Given the description of an element on the screen output the (x, y) to click on. 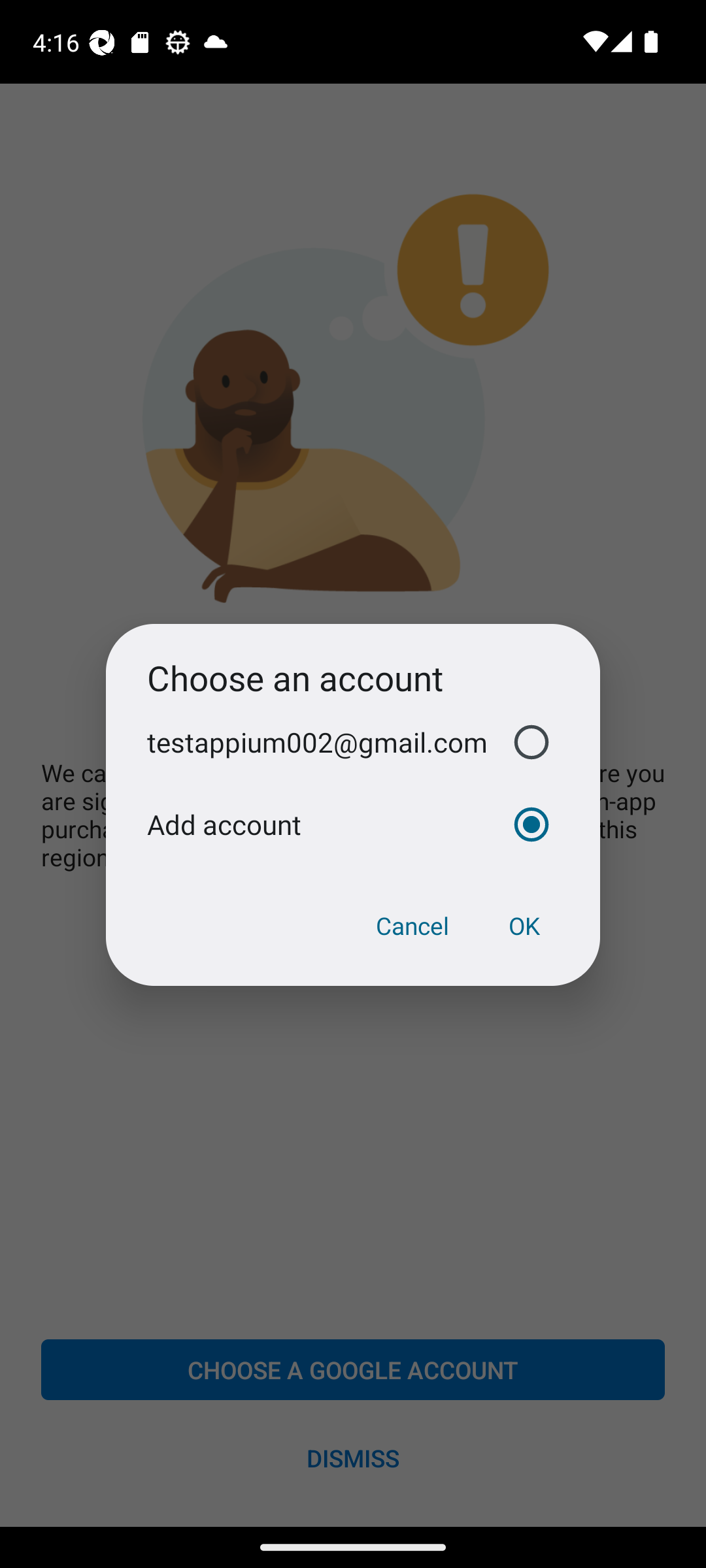
testappium002@gmail.com (352, 742)
Add account (352, 824)
Cancel (412, 925)
OK (523, 925)
